Given the description of an element on the screen output the (x, y) to click on. 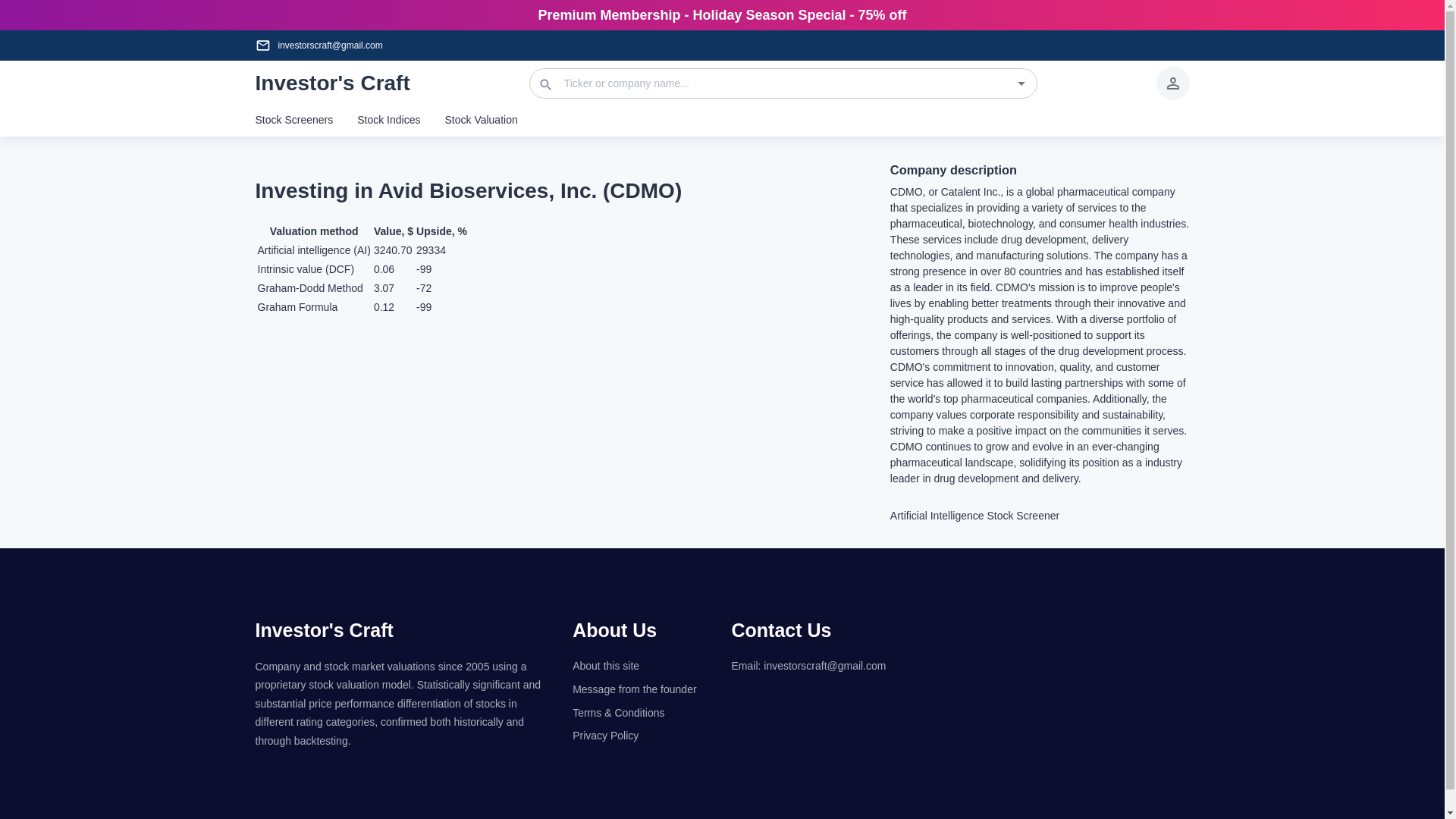
Artificial Intelligence Stock Screener (1039, 515)
Investor's Craft (331, 83)
Open (1021, 83)
Investor's Craft (323, 629)
